Given the description of an element on the screen output the (x, y) to click on. 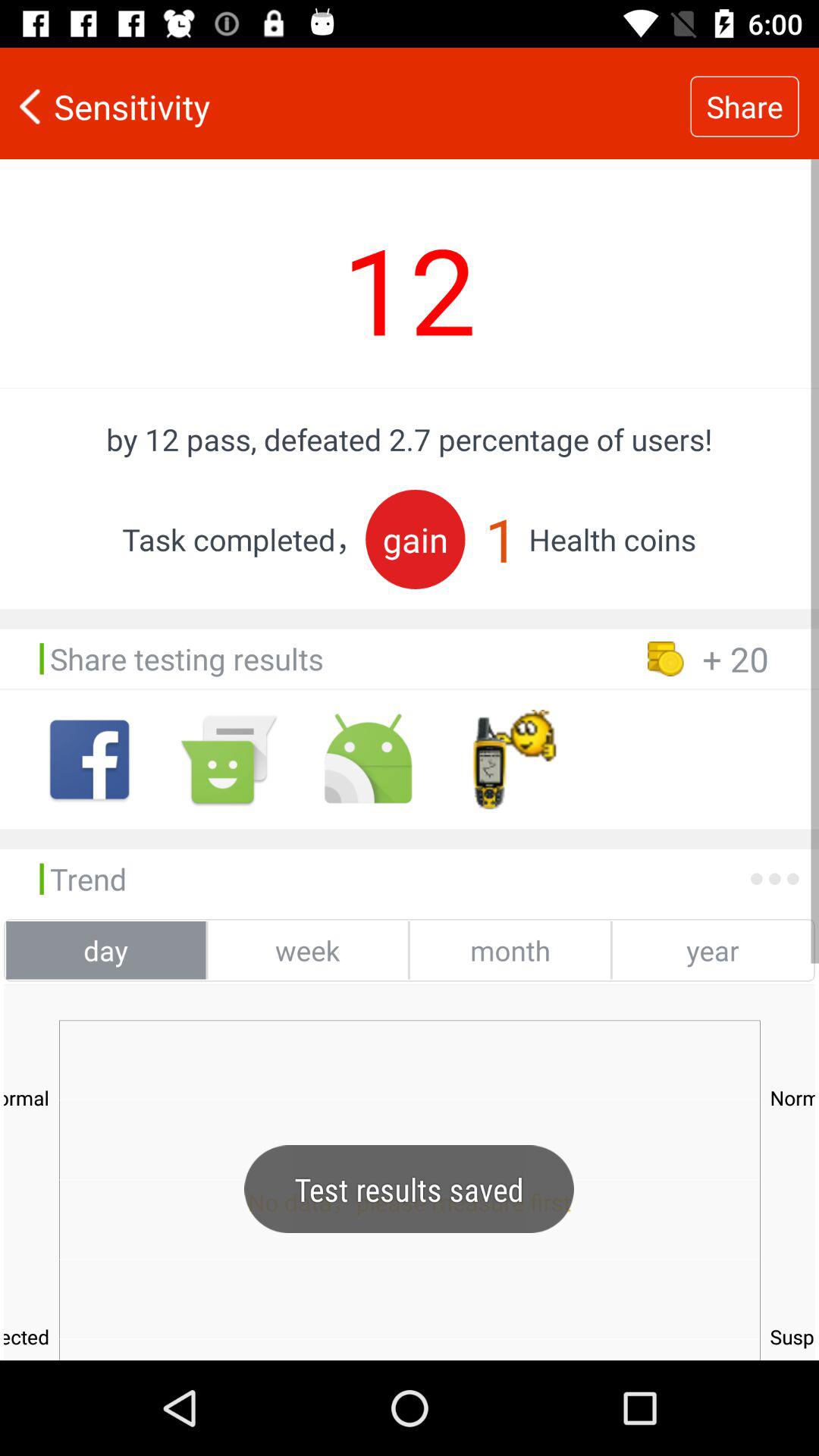
shows smile icon (228, 759)
